Given the description of an element on the screen output the (x, y) to click on. 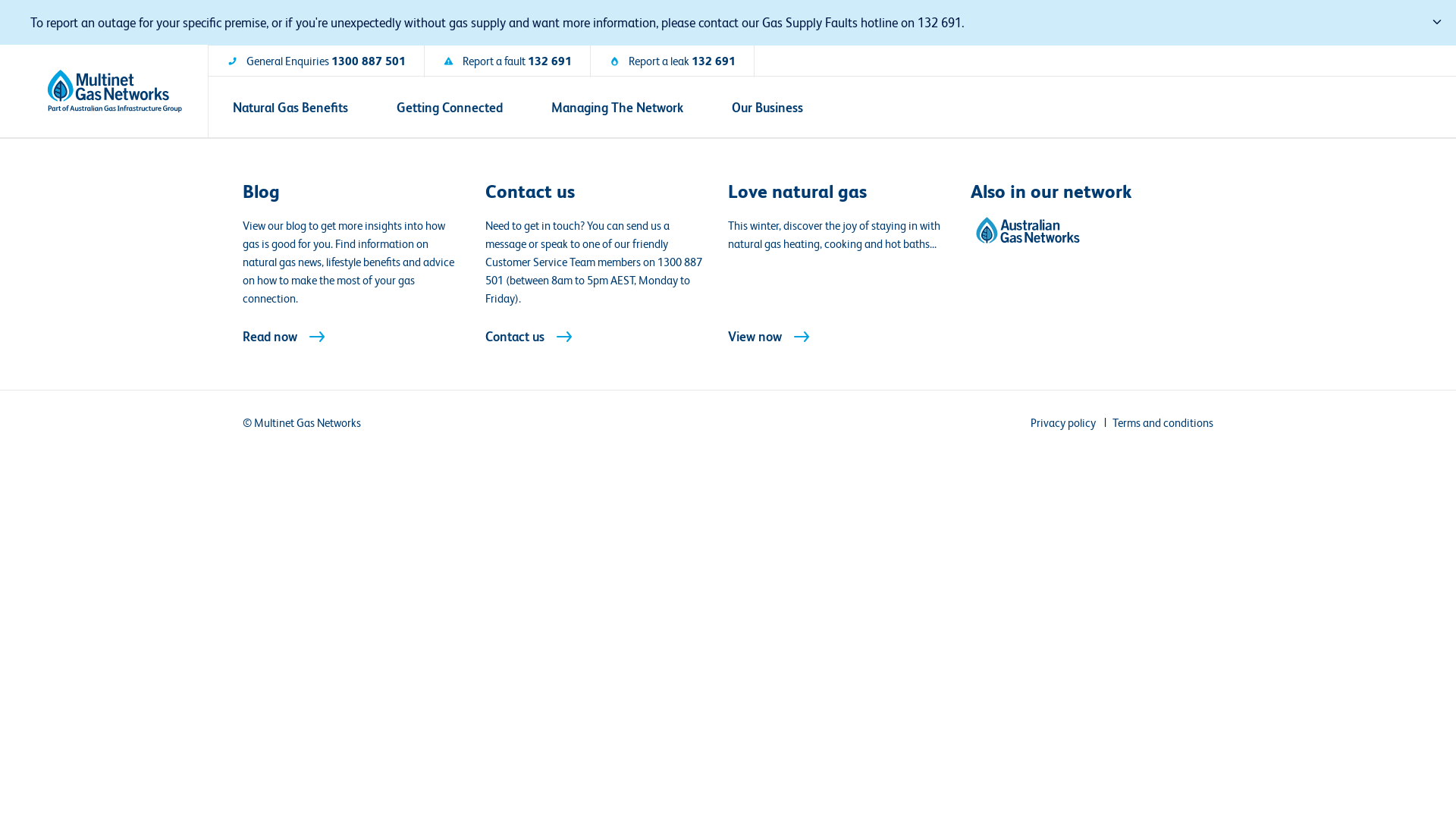
Managing The Network Element type: text (617, 107)
Our Business Element type: text (767, 107)
Terms and conditions Element type: text (1162, 422)
Report a fault 132 691 Element type: text (506, 61)
Getting Connected Element type: text (449, 107)
Natural Gas Benefits Element type: text (290, 107)
Report a leak 132 691 Element type: text (671, 61)
Privacy policy Element type: text (1062, 422)
General Enquiries 1300 887 501 Element type: text (315, 61)
